Given the description of an element on the screen output the (x, y) to click on. 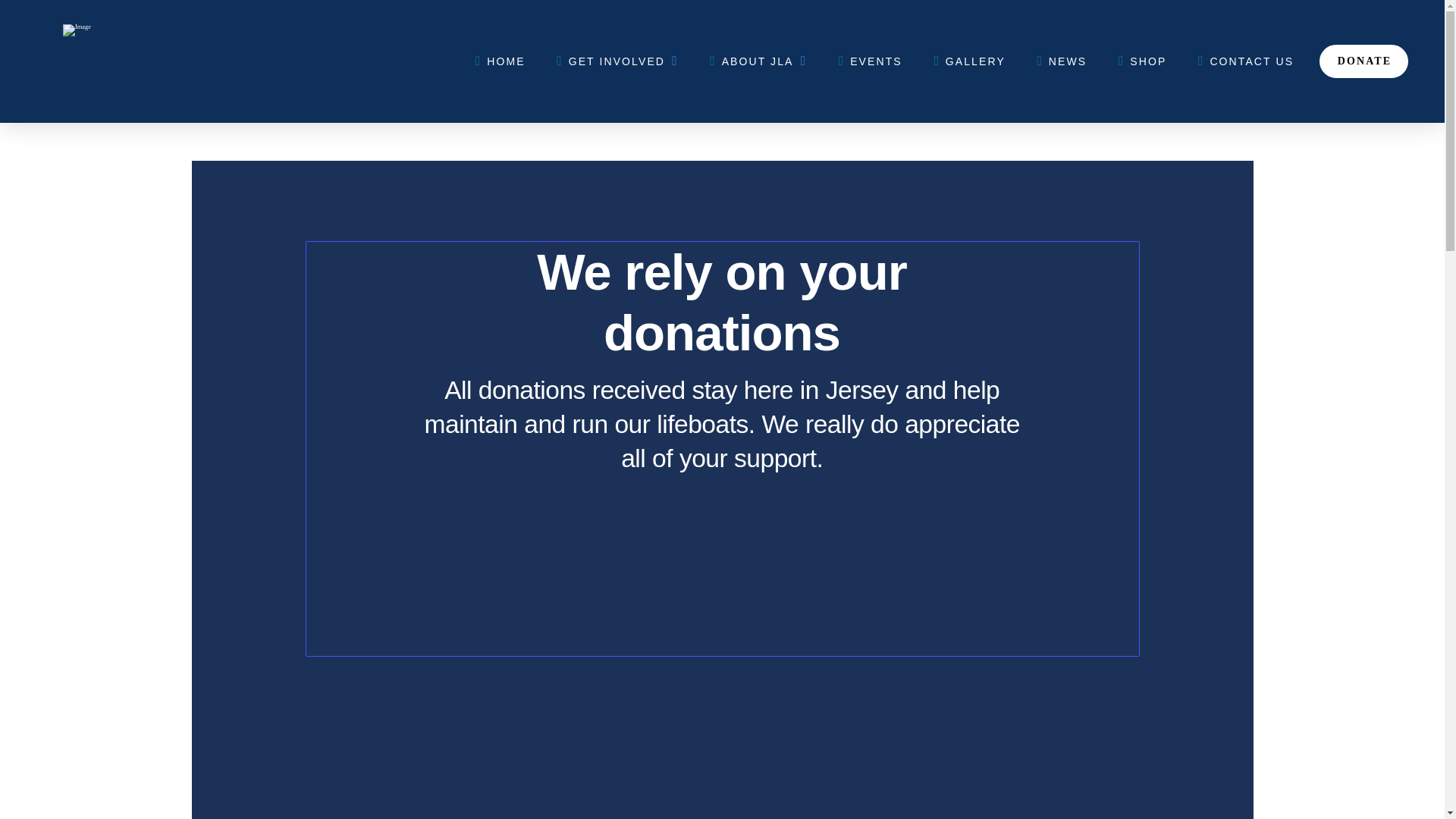
DONATE (1363, 60)
ABOUT JLA (757, 61)
CONTACT US (1244, 61)
GET INVOLVED (616, 61)
